Given the description of an element on the screen output the (x, y) to click on. 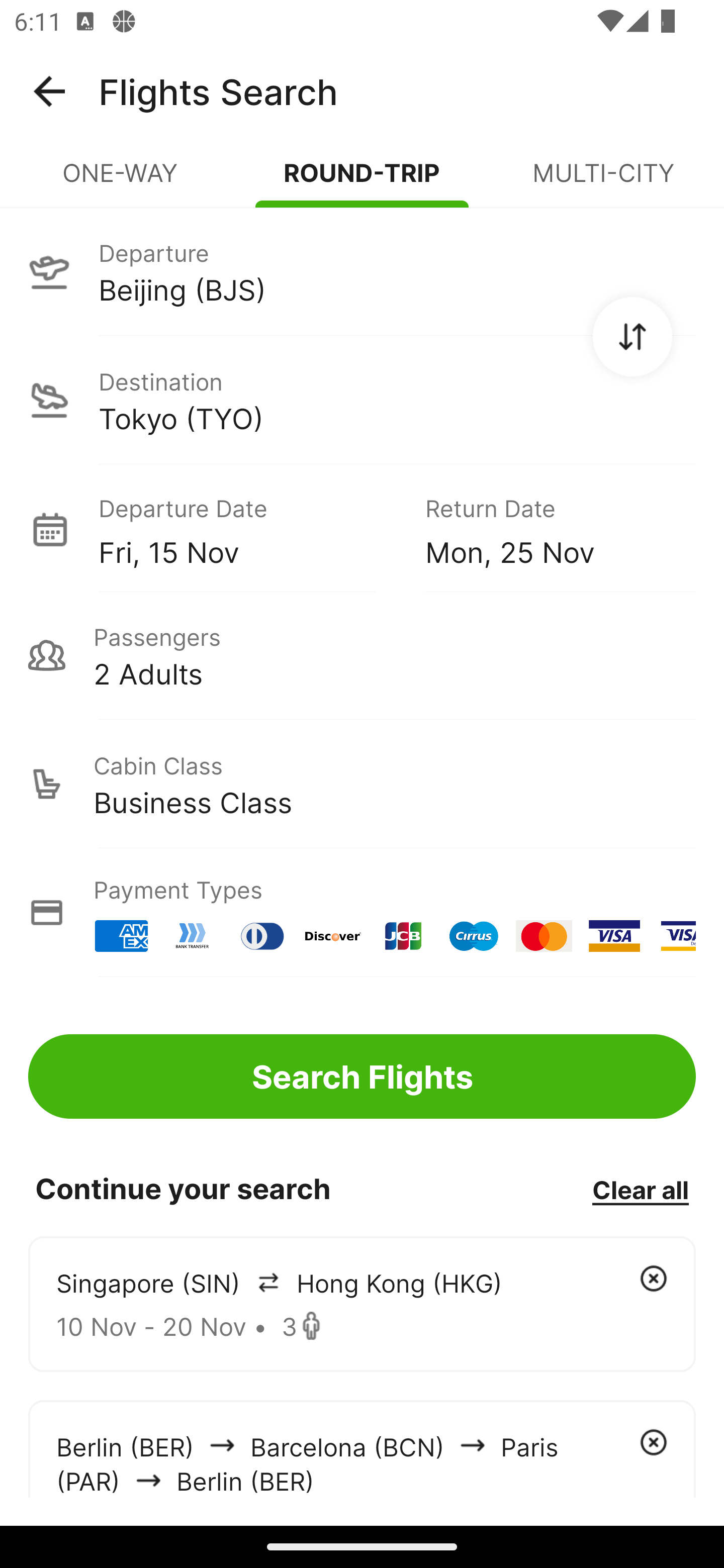
ONE-WAY (120, 180)
ROUND-TRIP (361, 180)
MULTI-CITY (603, 180)
Departure Beijing (BJS) (362, 270)
Destination Tokyo (TYO) (362, 400)
Departure Date Fri, 15 Nov (247, 528)
Return Date Mon, 25 Nov (546, 528)
Passengers 2 Adults (362, 655)
Cabin Class Business Class (362, 783)
Payment Types (362, 912)
Search Flights (361, 1075)
Clear all (640, 1189)
